Given the description of an element on the screen output the (x, y) to click on. 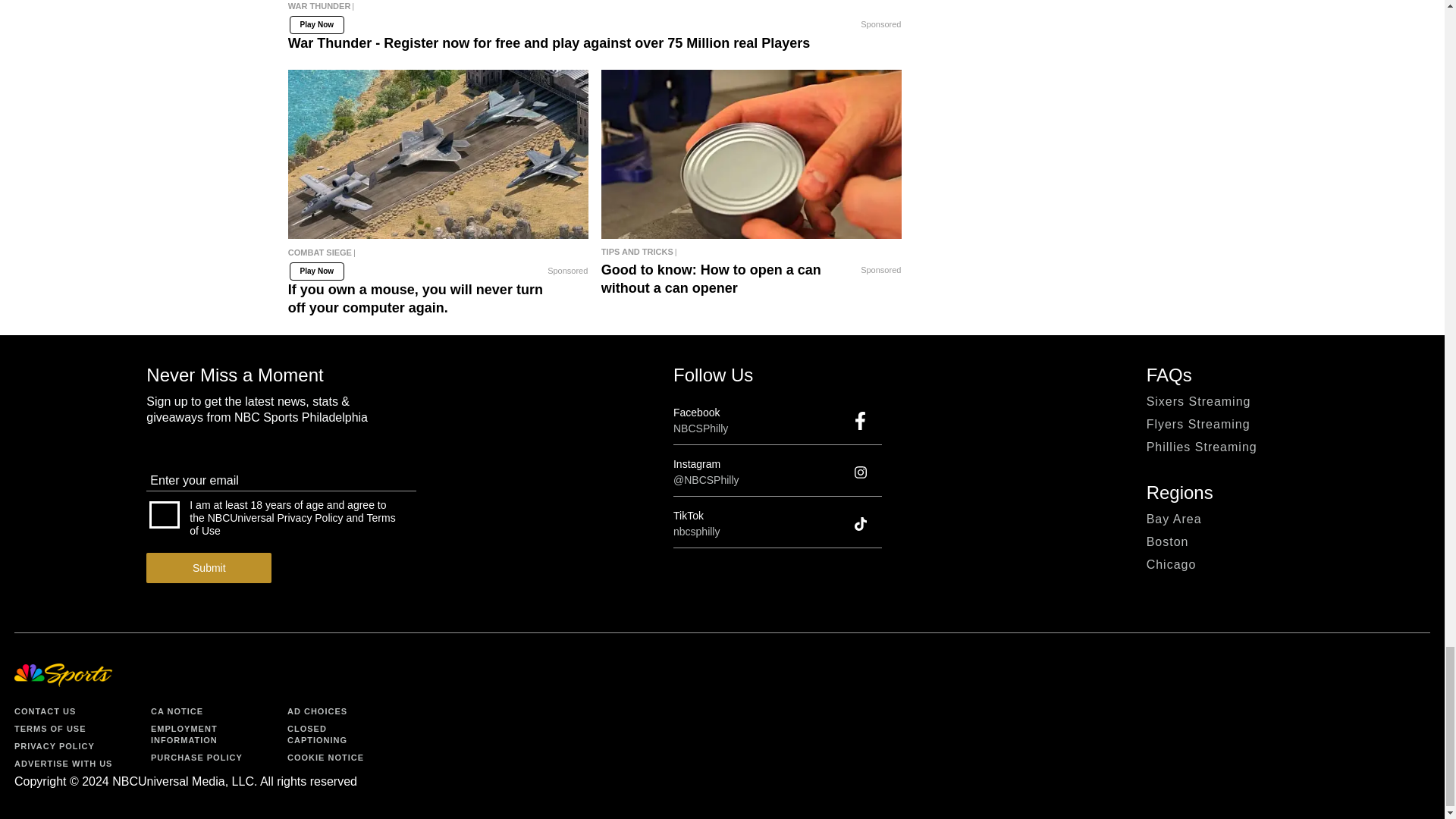
Good to know: How to open a can without a can opener (751, 154)
on (164, 514)
